Given the description of an element on the screen output the (x, y) to click on. 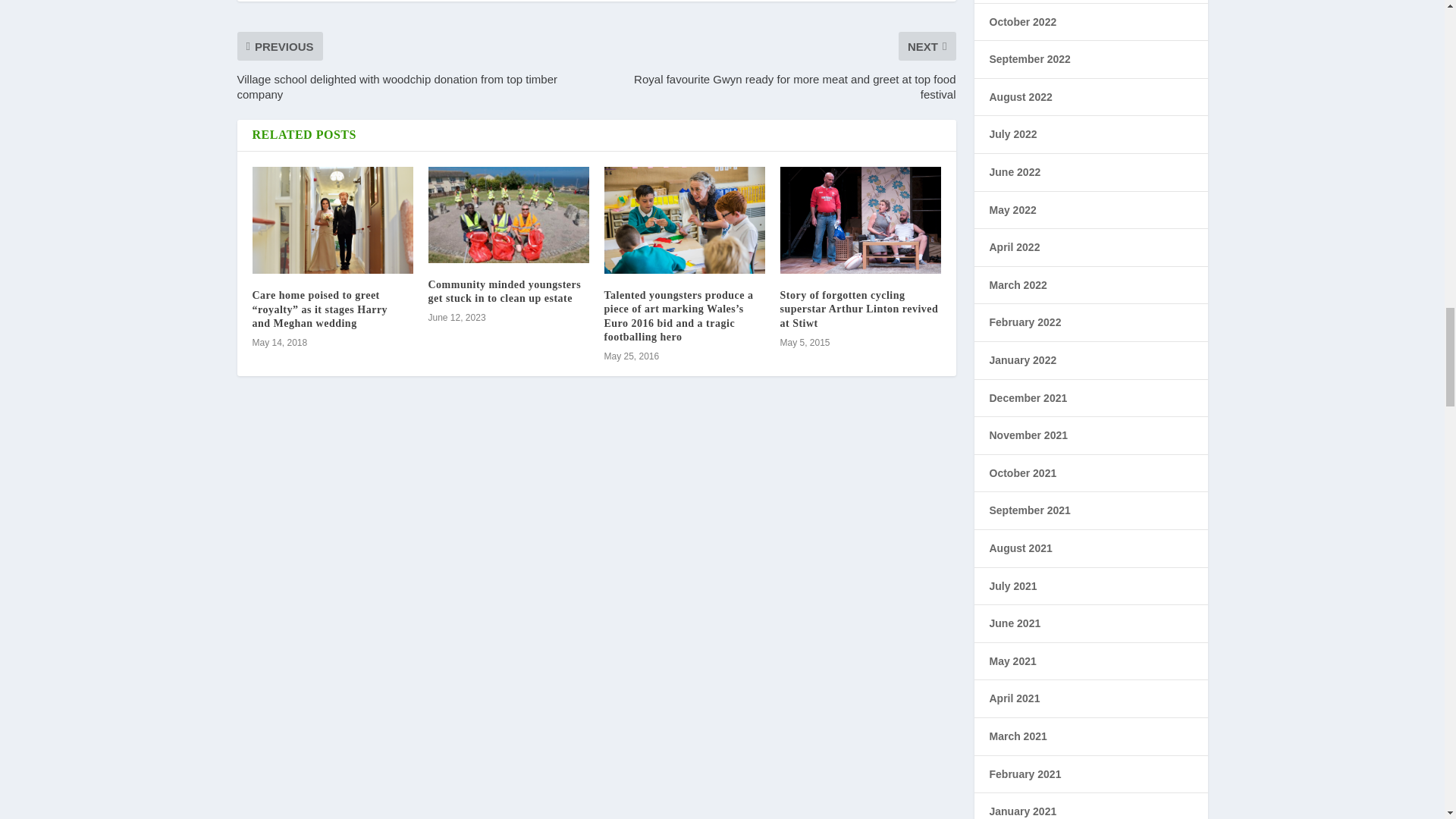
Community minded youngsters get stuck in to clean up estate (508, 214)
Community minded youngsters get stuck in to clean up estate (504, 291)
